Given the description of an element on the screen output the (x, y) to click on. 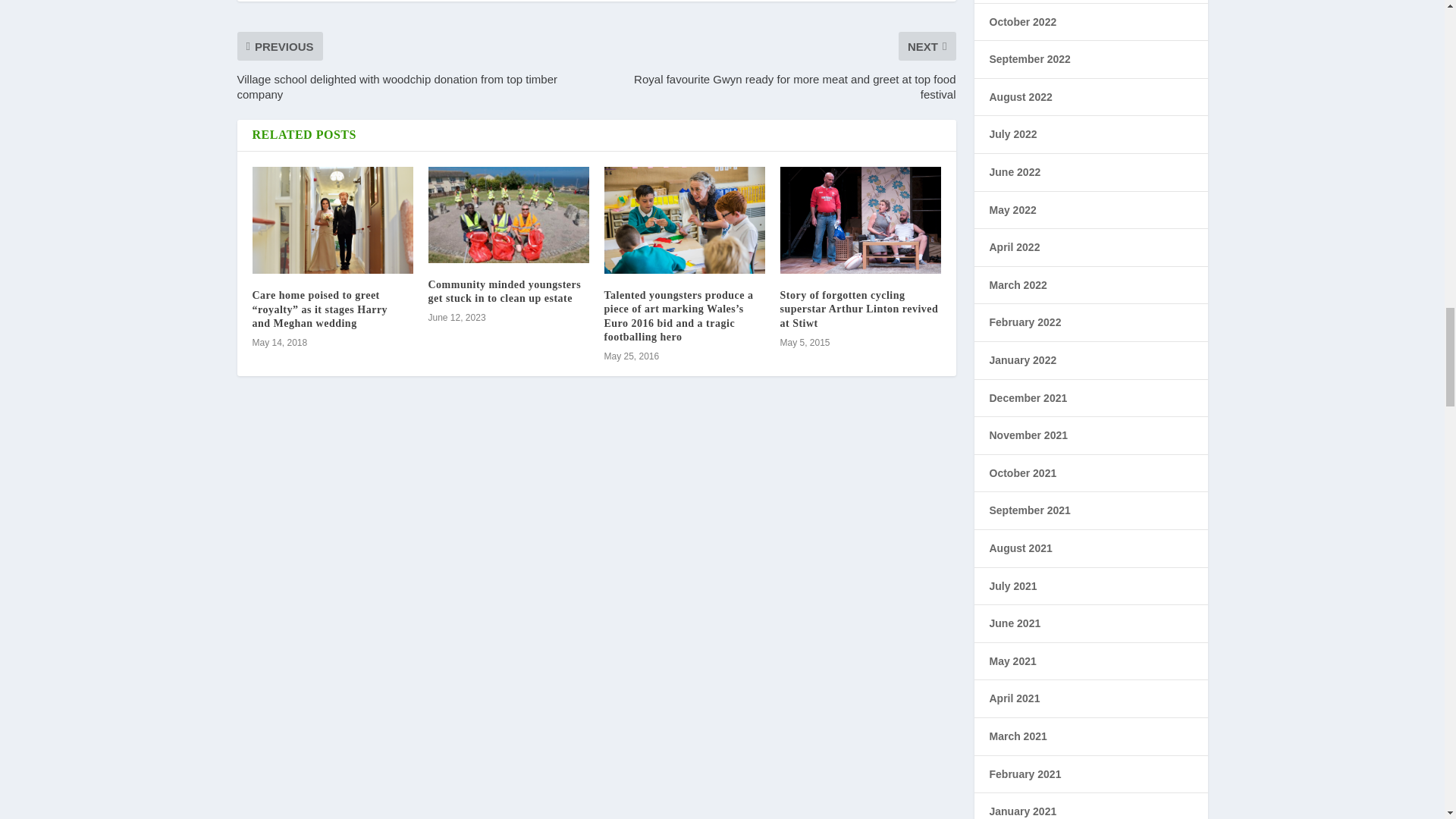
Community minded youngsters get stuck in to clean up estate (508, 214)
Community minded youngsters get stuck in to clean up estate (504, 291)
